Given the description of an element on the screen output the (x, y) to click on. 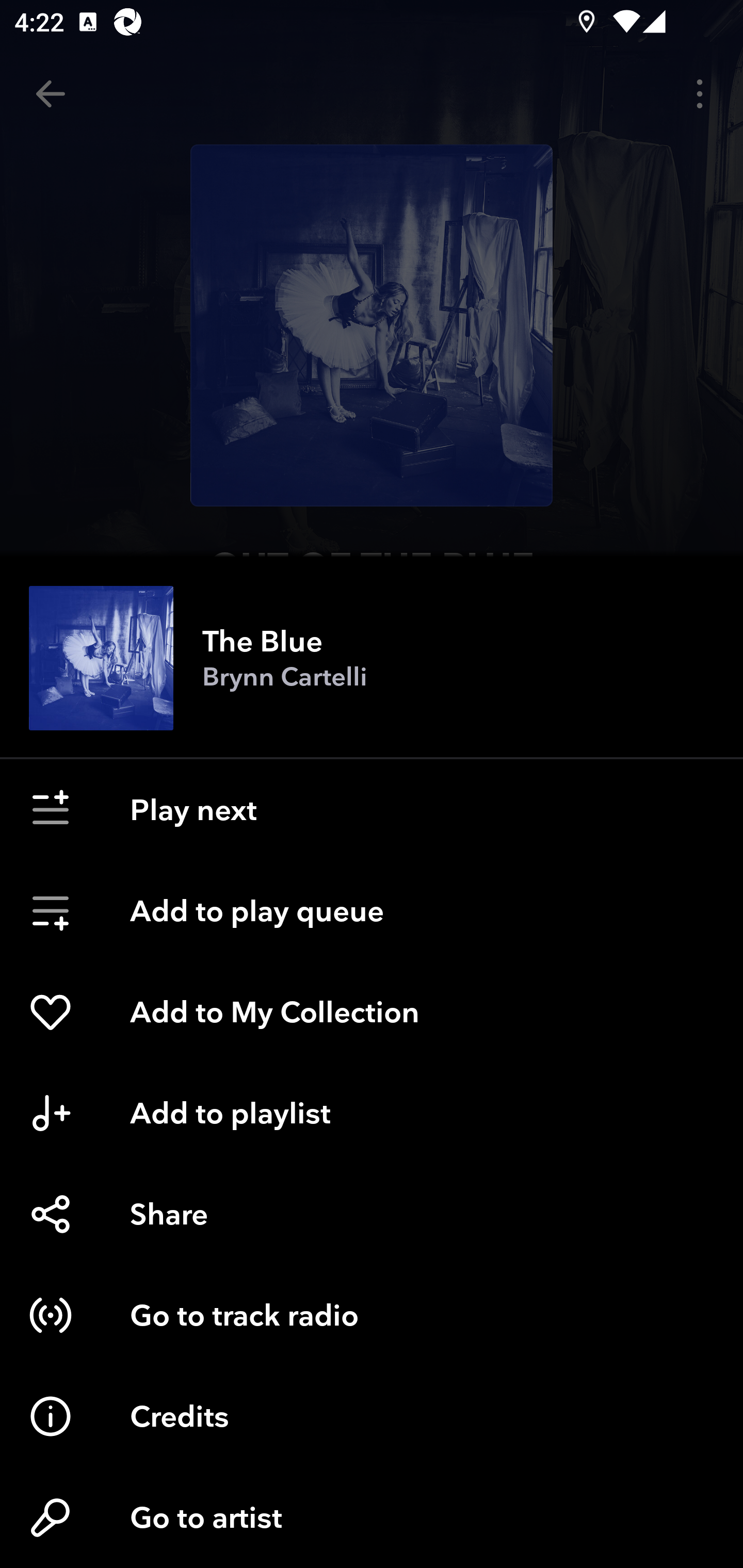
Play next (371, 809)
Add to play queue (371, 910)
Add to My Collection (371, 1012)
Add to playlist (371, 1113)
Share (371, 1214)
Go to track radio (371, 1315)
Credits (371, 1416)
Go to artist (371, 1517)
